Given the description of an element on the screen output the (x, y) to click on. 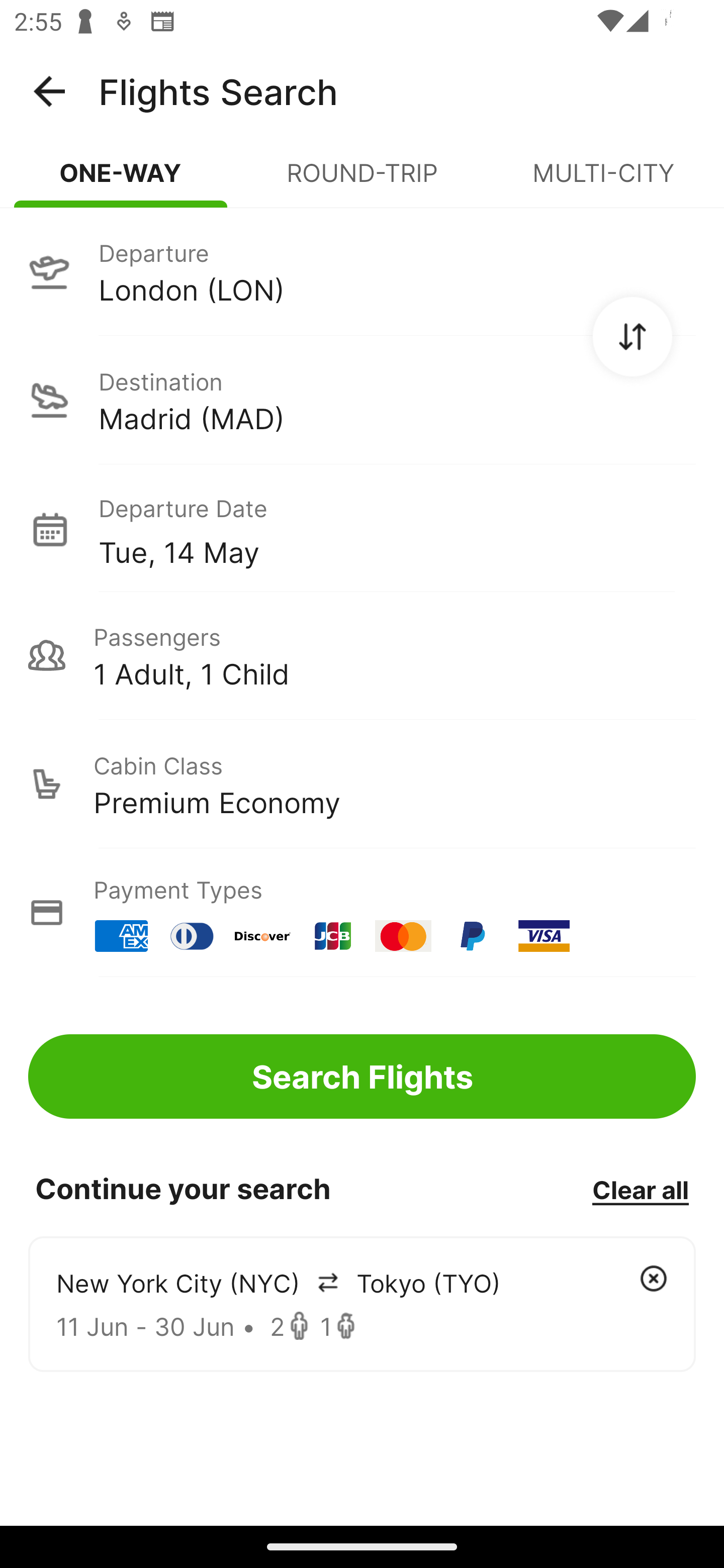
ONE-WAY (120, 180)
ROUND-TRIP (361, 180)
MULTI-CITY (603, 180)
Departure London (LON) (362, 270)
Destination Madrid (MAD) (362, 400)
Departure Date Tue, 14 May (396, 528)
Passengers 1 Adult, 1 Child (362, 655)
Cabin Class Premium Economy (362, 783)
Payment Types (362, 912)
Search Flights (361, 1075)
Clear all (640, 1189)
